Given the description of an element on the screen output the (x, y) to click on. 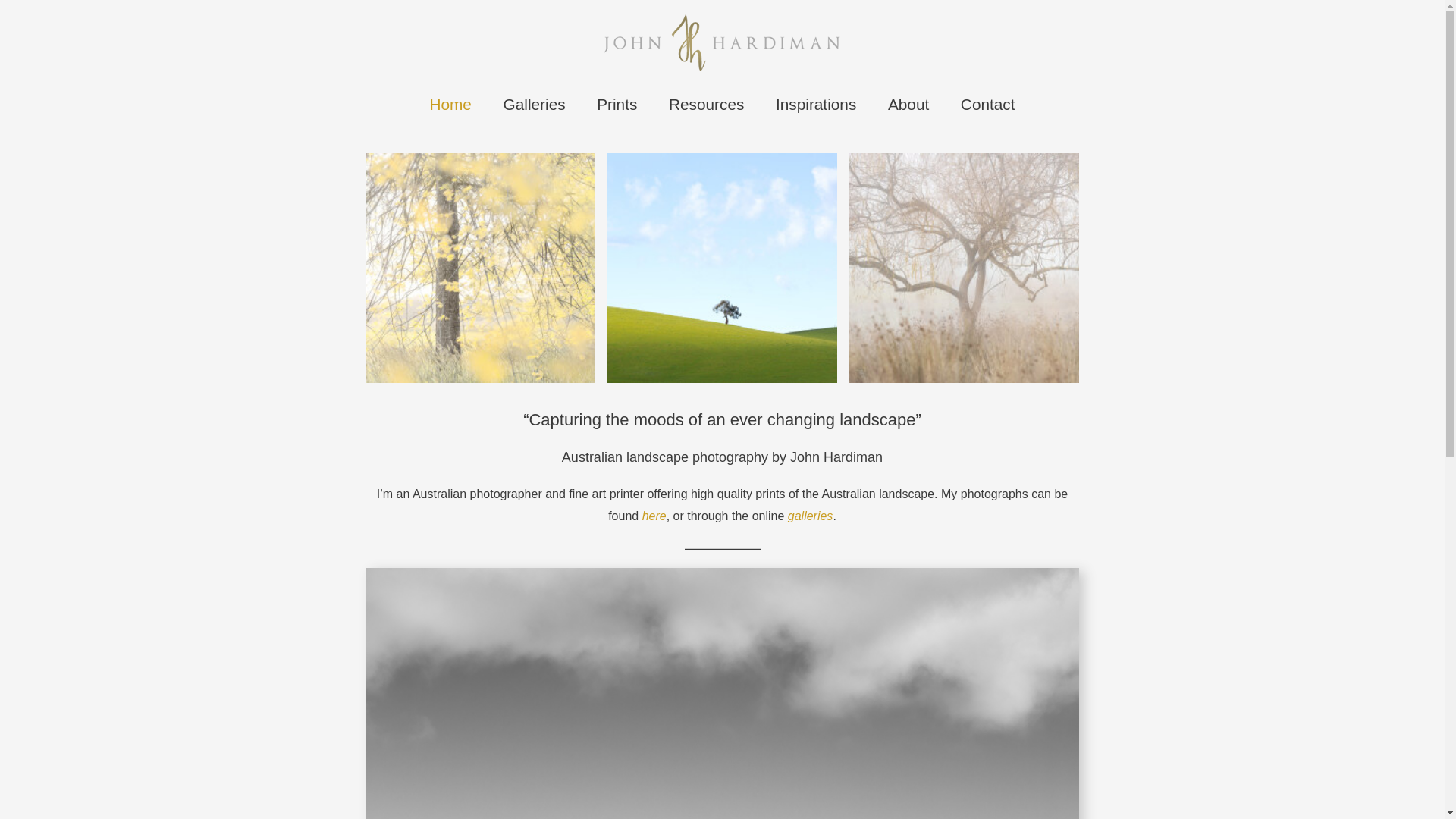
Prints Element type: text (616, 103)
Galleries Element type: text (534, 103)
galleries Element type: text (810, 515)
Home Element type: text (450, 103)
Home Element type: hover (722, 42)
Resources Element type: text (705, 103)
About Element type: text (908, 103)
Contact Element type: text (987, 103)
here Element type: text (654, 515)
Inspirations Element type: text (815, 103)
